Given the description of an element on the screen output the (x, y) to click on. 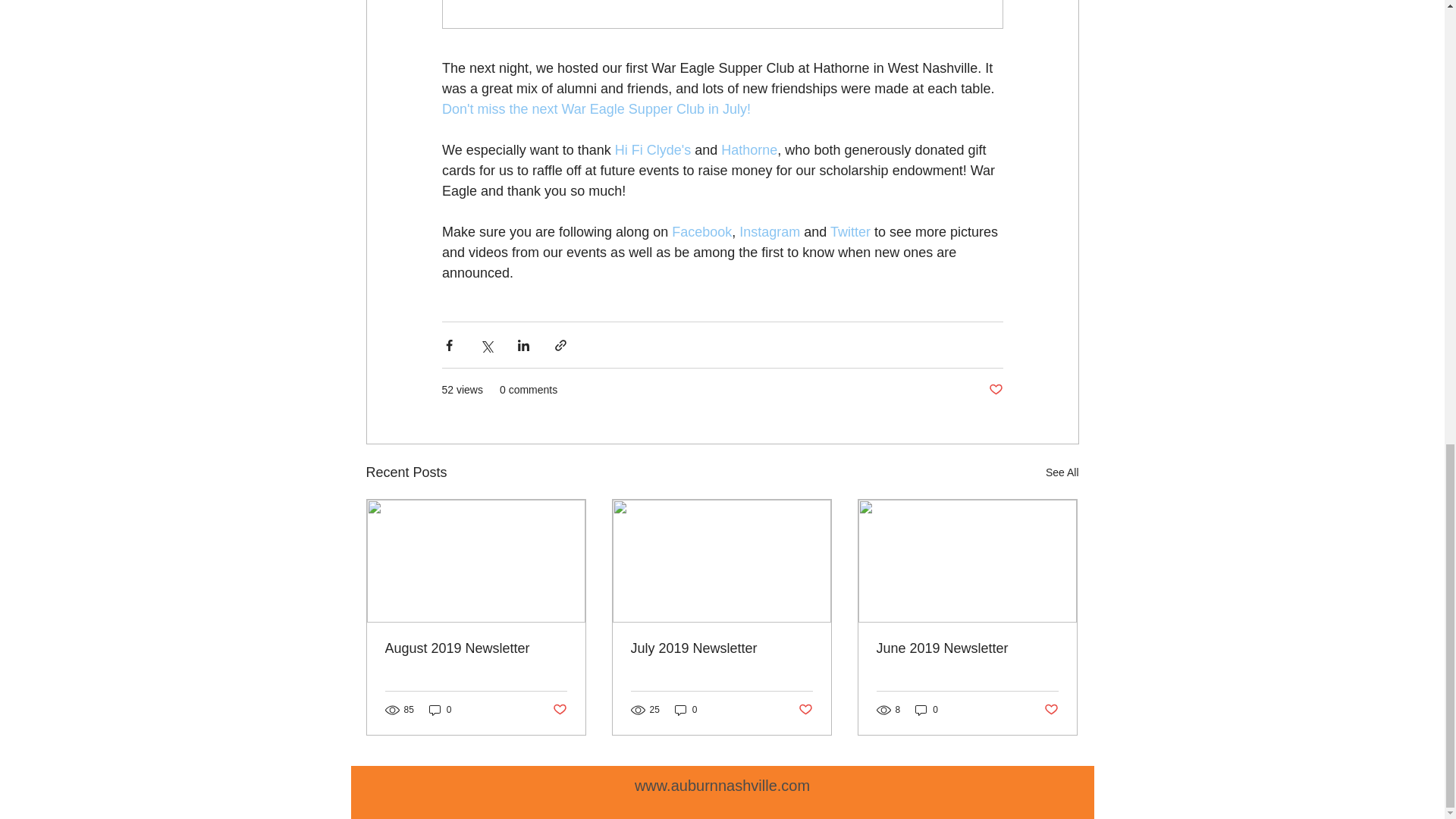
July 2019 Newsletter (721, 648)
Post not marked as liked (558, 709)
www.auburnnashville.com (721, 785)
August 2019 Newsletter (476, 648)
0 (685, 709)
June 2019 Newsletter (967, 648)
Post not marked as liked (804, 709)
0 (440, 709)
Post not marked as liked (1050, 709)
0 (926, 709)
Instagram (769, 231)
Don't miss the next War Eagle Supper Club in July! (595, 109)
Twitter (849, 231)
Hathorne (748, 150)
See All (1061, 472)
